Given the description of an element on the screen output the (x, y) to click on. 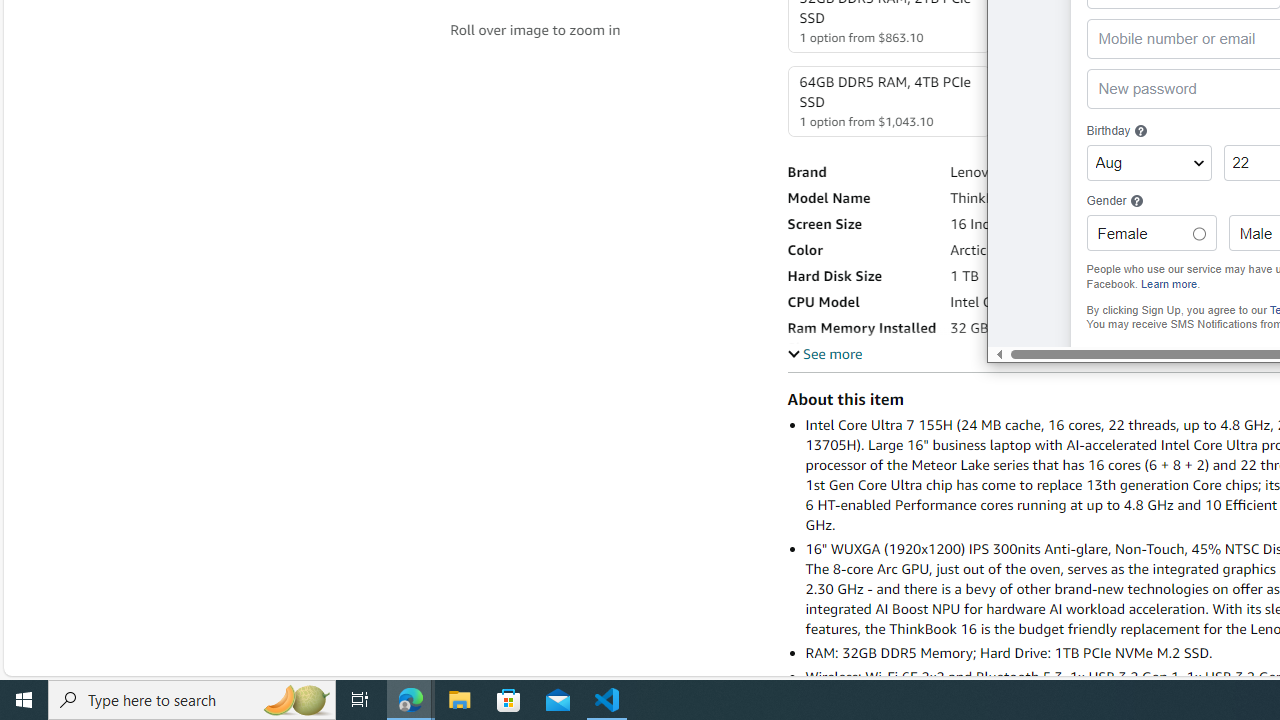
Click for more information (1136, 200)
Female (1198, 234)
Month (1148, 163)
Learn more (1169, 283)
Microsoft Edge - 2 running windows (411, 699)
